Given the description of an element on the screen output the (x, y) to click on. 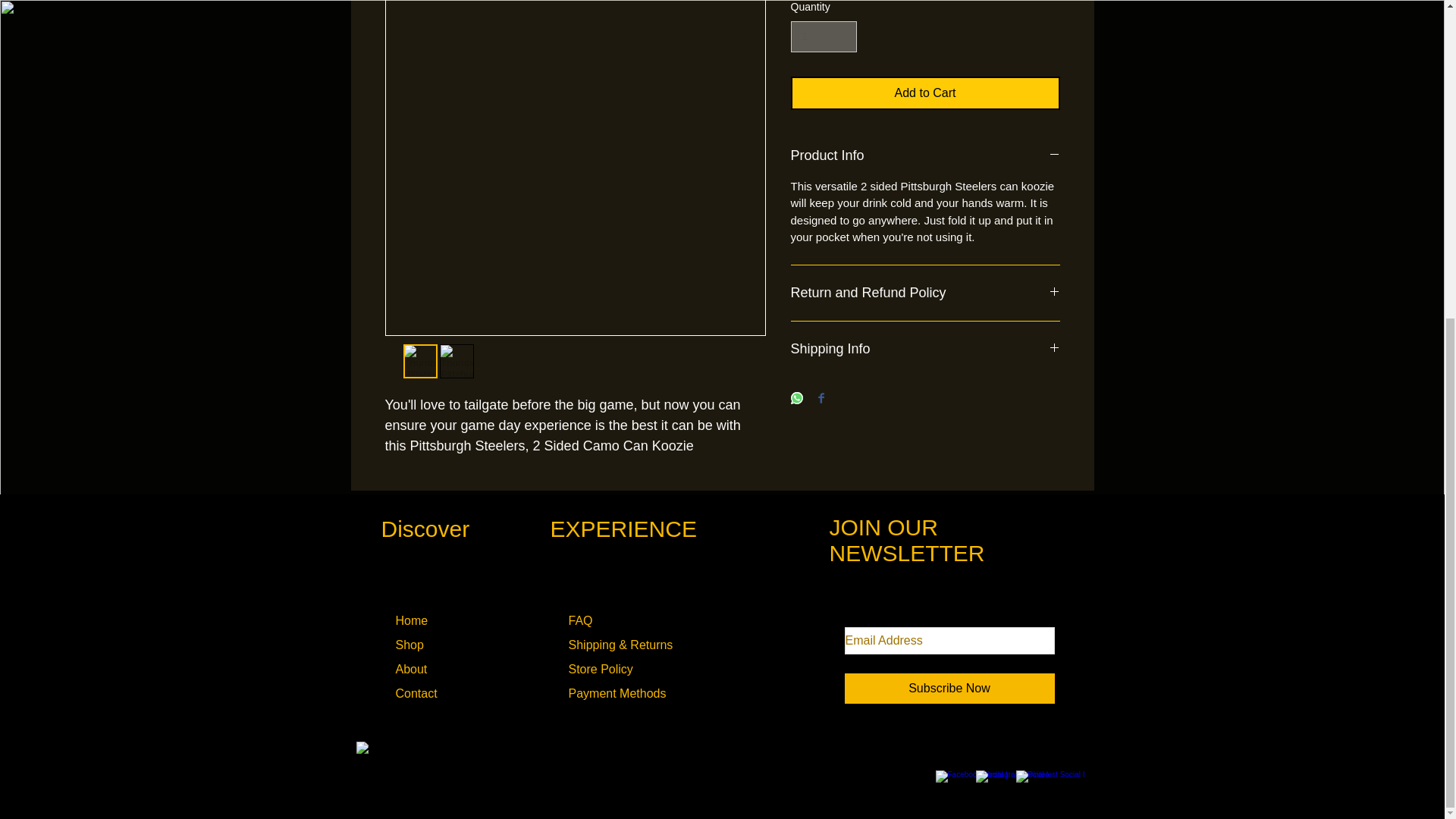
Subscribe Now (949, 688)
Shipping Info (924, 348)
Add to Cart (924, 92)
Return and Refund Policy (924, 292)
1 (823, 36)
Store Policy  (603, 668)
Shop (409, 644)
Payment Methods (617, 693)
About (412, 668)
Product Info (924, 155)
